Given the description of an element on the screen output the (x, y) to click on. 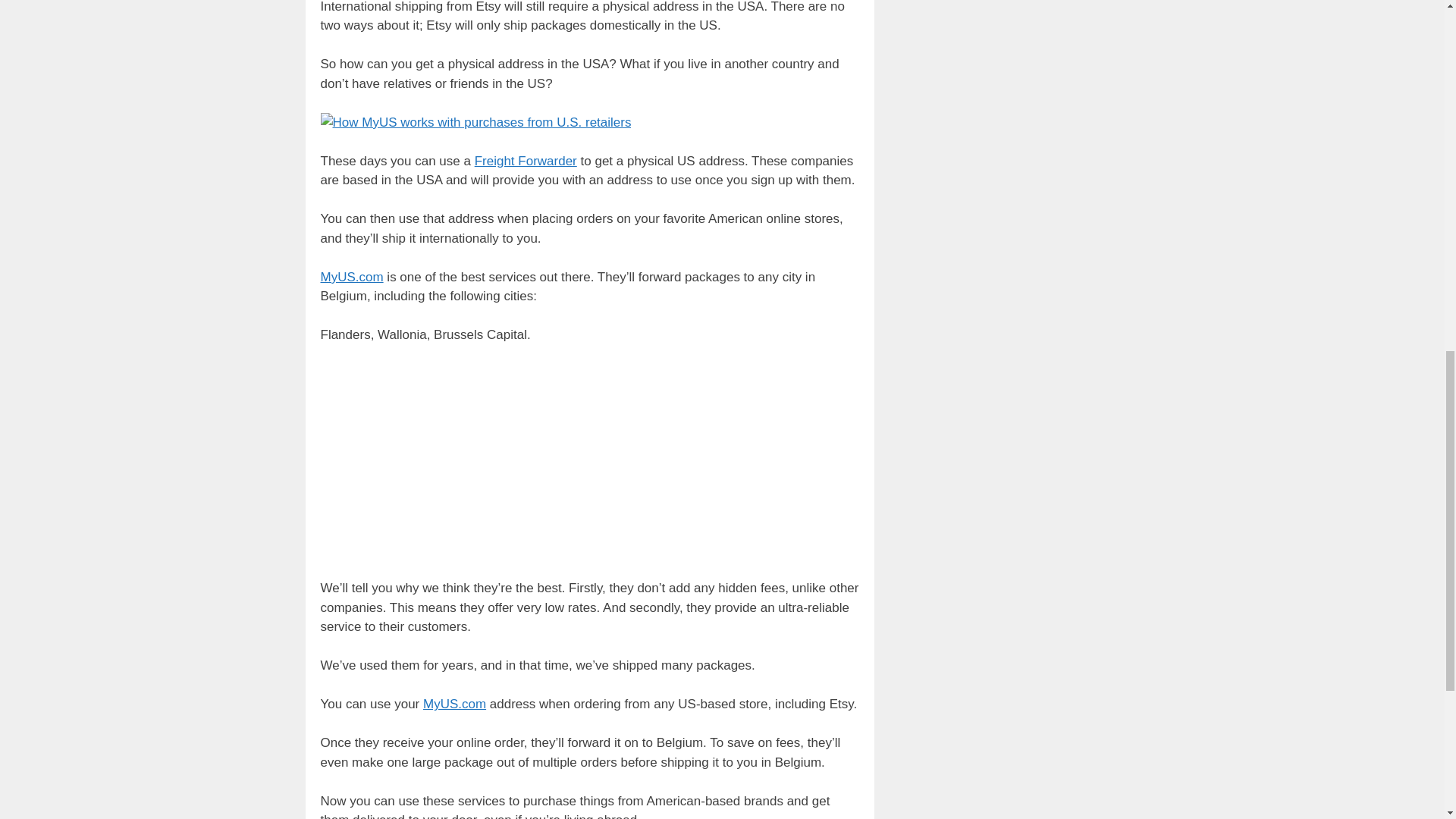
MyUS.com (351, 277)
Freight Forwarder (525, 160)
MyUS.com (454, 703)
